Given the description of an element on the screen output the (x, y) to click on. 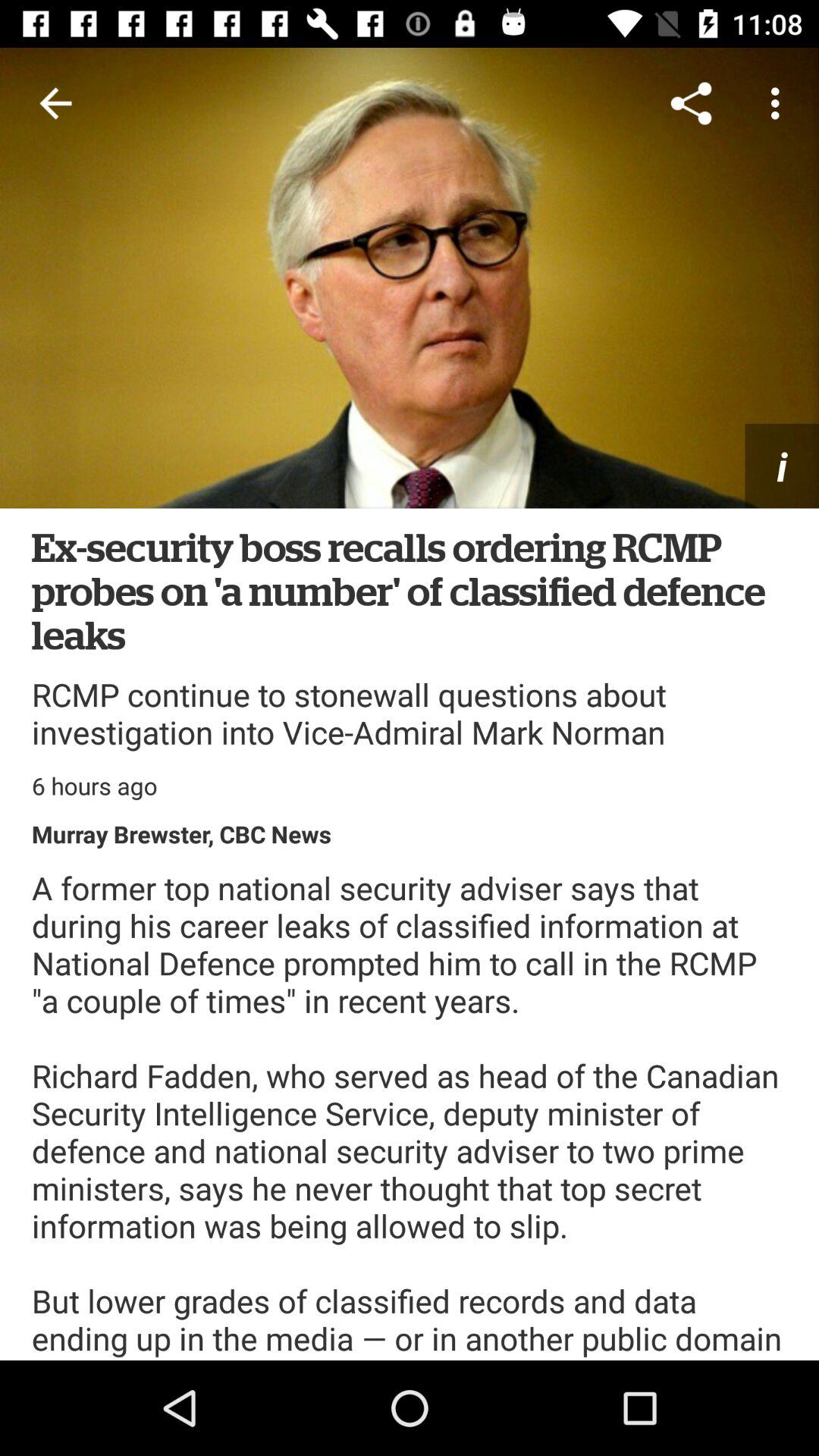
turn on item above i (779, 103)
